Given the description of an element on the screen output the (x, y) to click on. 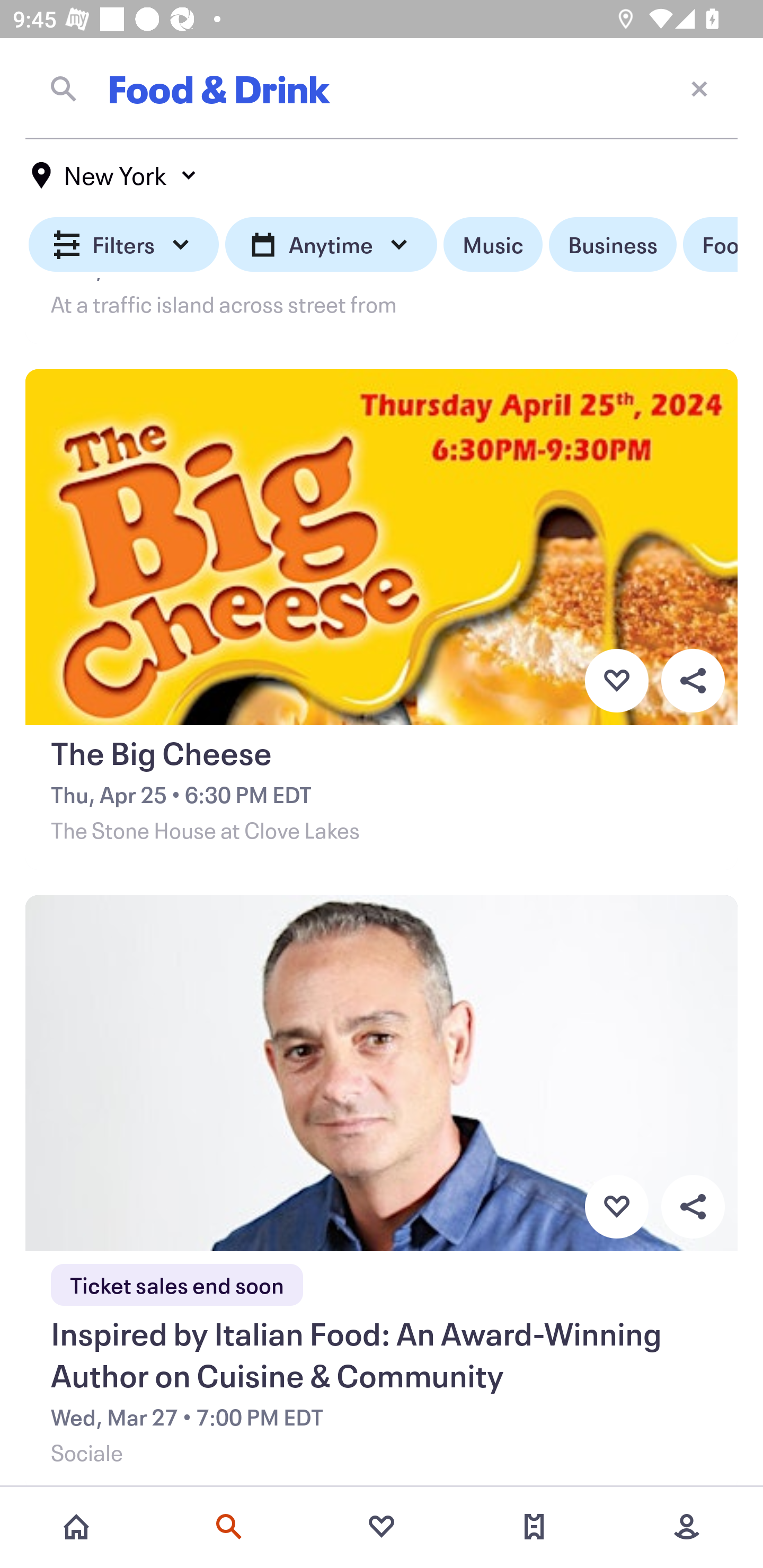
Food & Drink Close current screen (381, 88)
Close current screen (699, 88)
New York (114, 175)
Favorite button (616, 680)
Overflow menu button (692, 680)
Favorite button (616, 1206)
Overflow menu button (692, 1206)
Home (76, 1526)
Search events (228, 1526)
Favorites (381, 1526)
Tickets (533, 1526)
More (686, 1526)
